Given the description of an element on the screen output the (x, y) to click on. 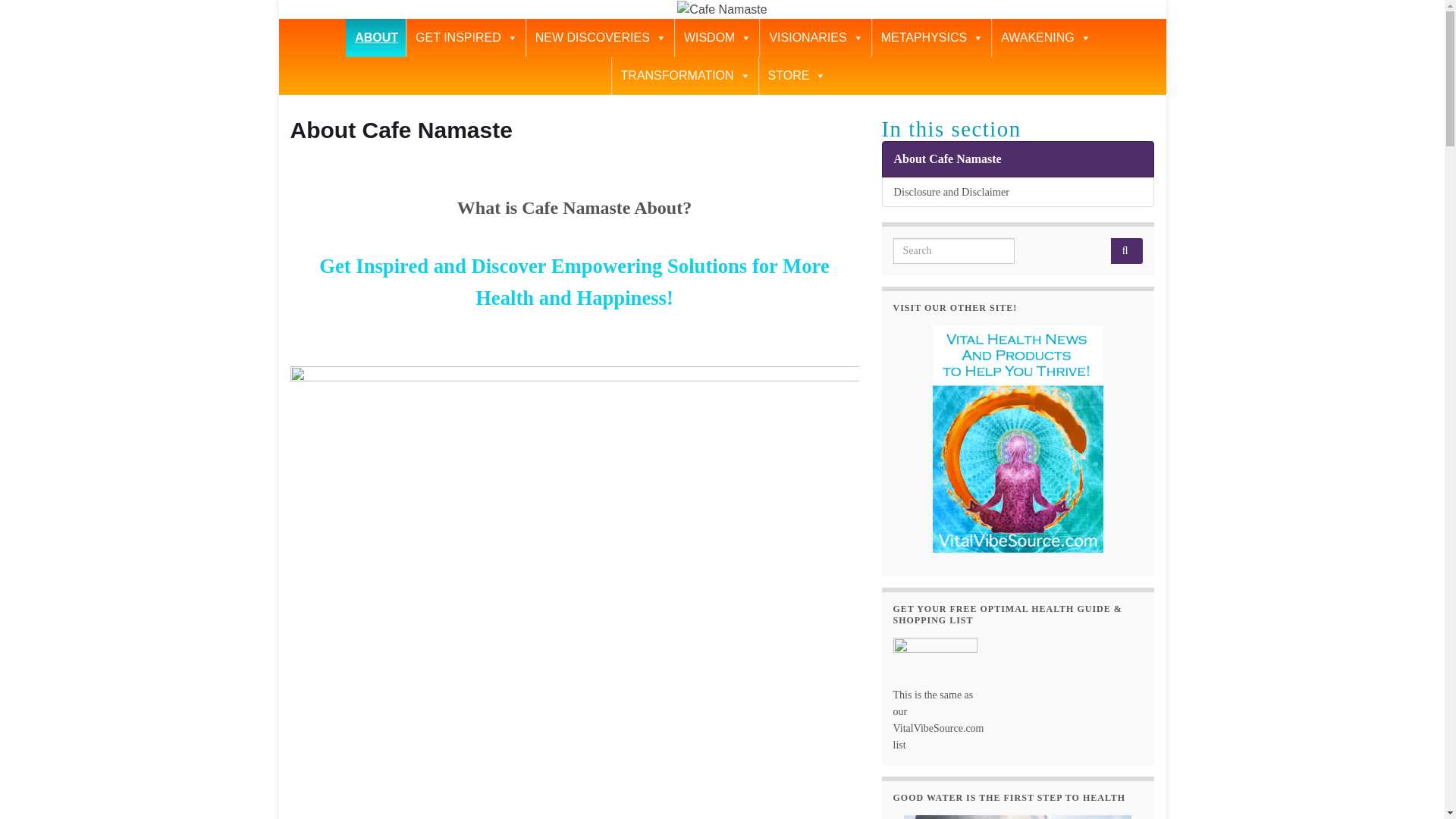
Cafe Namaste (722, 9)
ABOUT (376, 37)
Go back to the front page (722, 9)
WISDOM (717, 37)
GET INSPIRED (465, 37)
METAPHYSICS (931, 37)
NEW DISCOVERIES (599, 37)
VISIONARIES (815, 37)
